Given the description of an element on the screen output the (x, y) to click on. 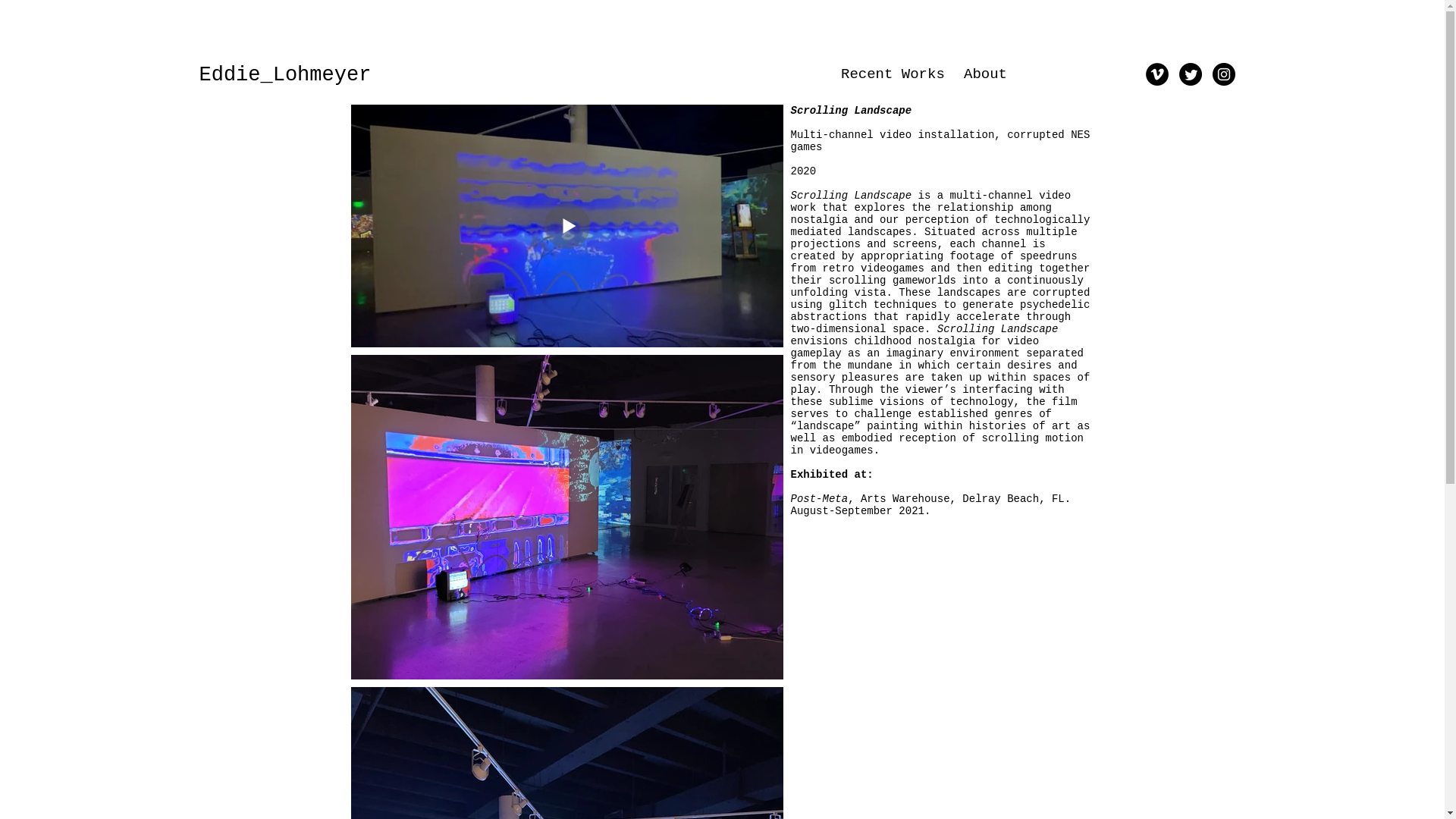
About (984, 73)
Recent Works (890, 73)
